Given the description of an element on the screen output the (x, y) to click on. 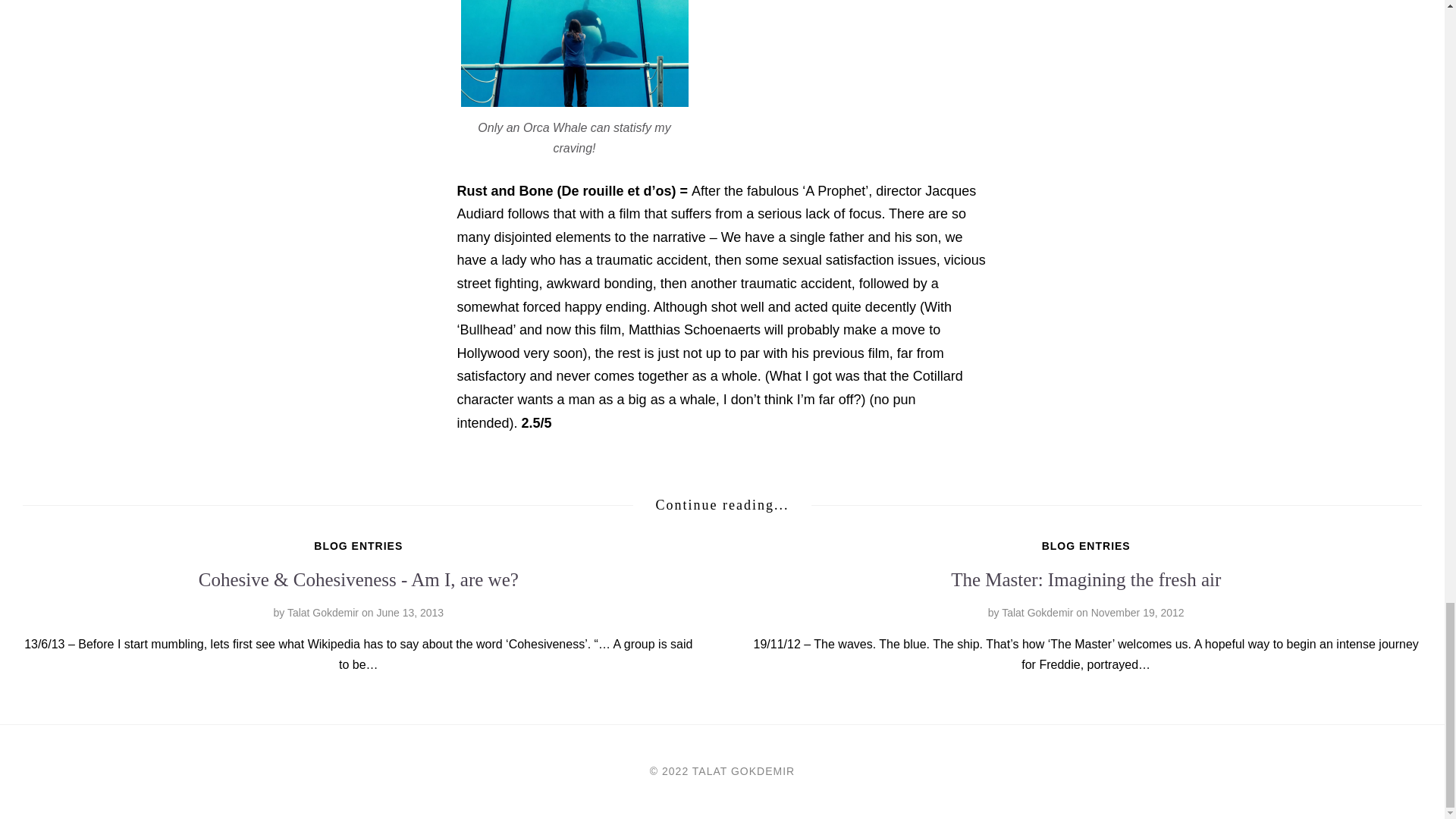
The Master: Imagining the fresh air (1137, 612)
Posts by Talat Gokdemir (322, 612)
Posts by Talat Gokdemir (1037, 612)
